Given the description of an element on the screen output the (x, y) to click on. 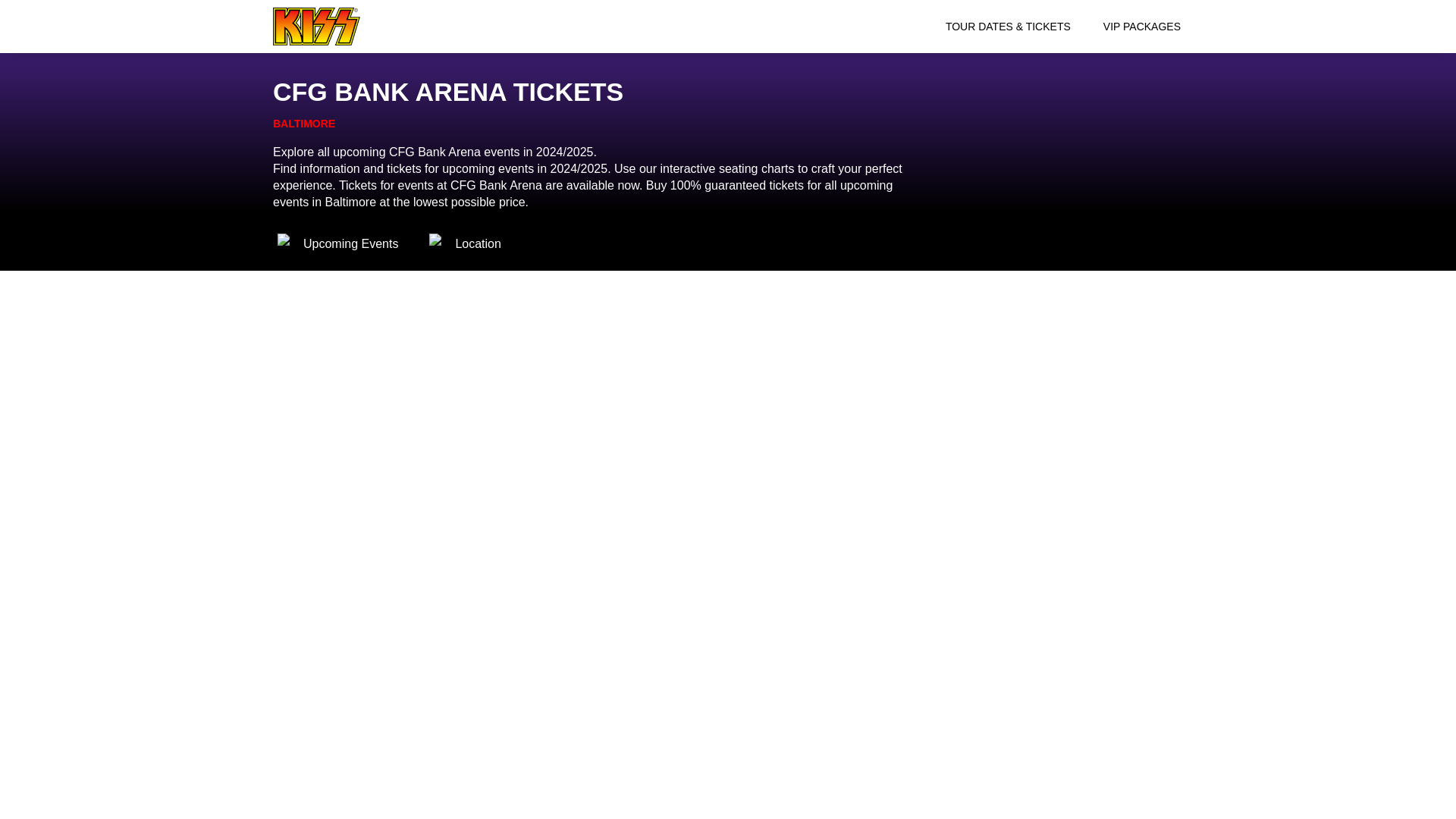
VIP PACKAGES (1141, 26)
